Given the description of an element on the screen output the (x, y) to click on. 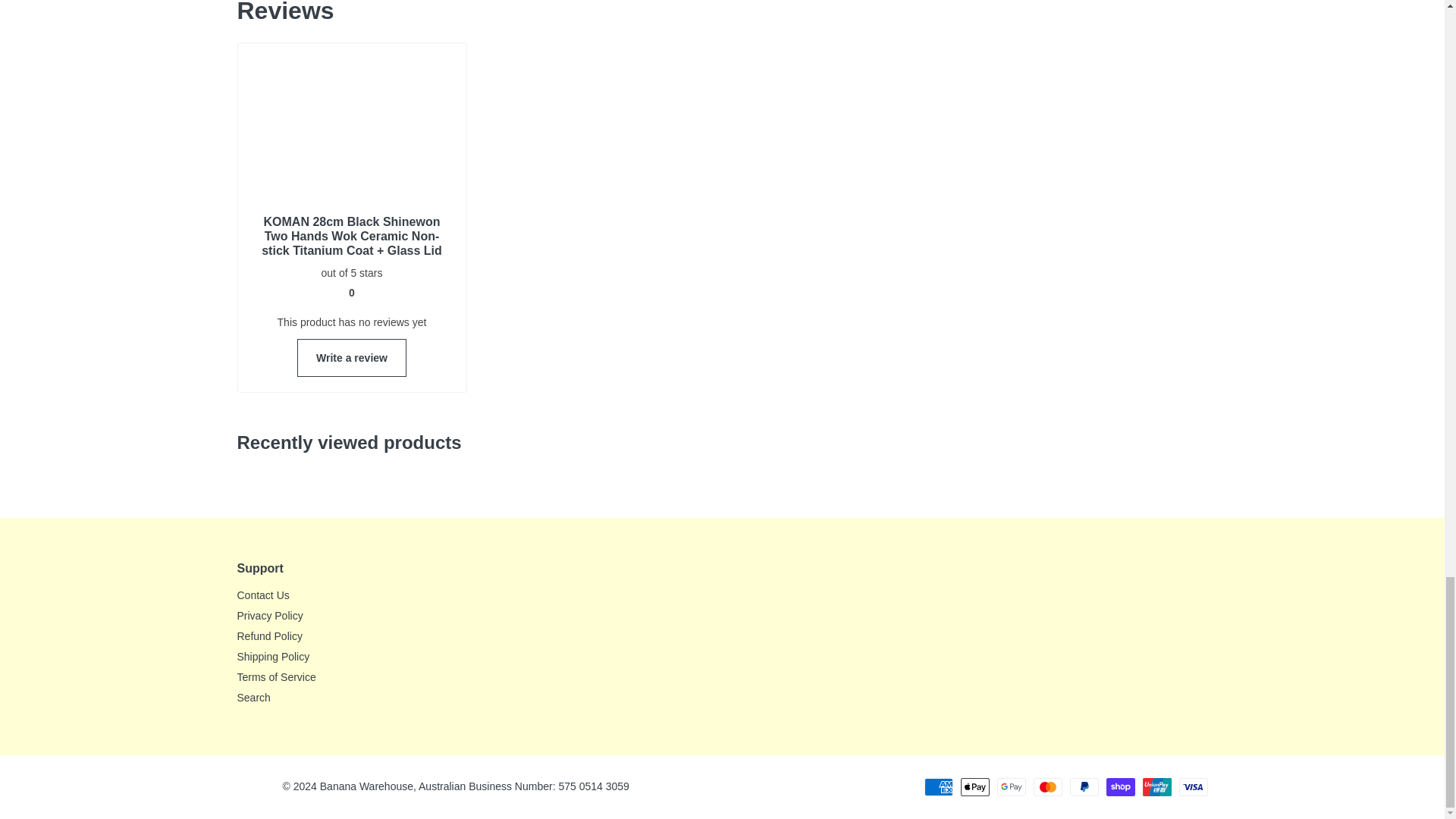
Google Pay (1010, 787)
Shop Pay (1119, 787)
Union Pay (1155, 787)
Visa (1192, 787)
Refund Policy (268, 635)
Privacy Policy (268, 615)
Shipping Policy (271, 656)
Contact Us (261, 594)
Mastercard (1046, 787)
Terms of Service (275, 676)
